Given the description of an element on the screen output the (x, y) to click on. 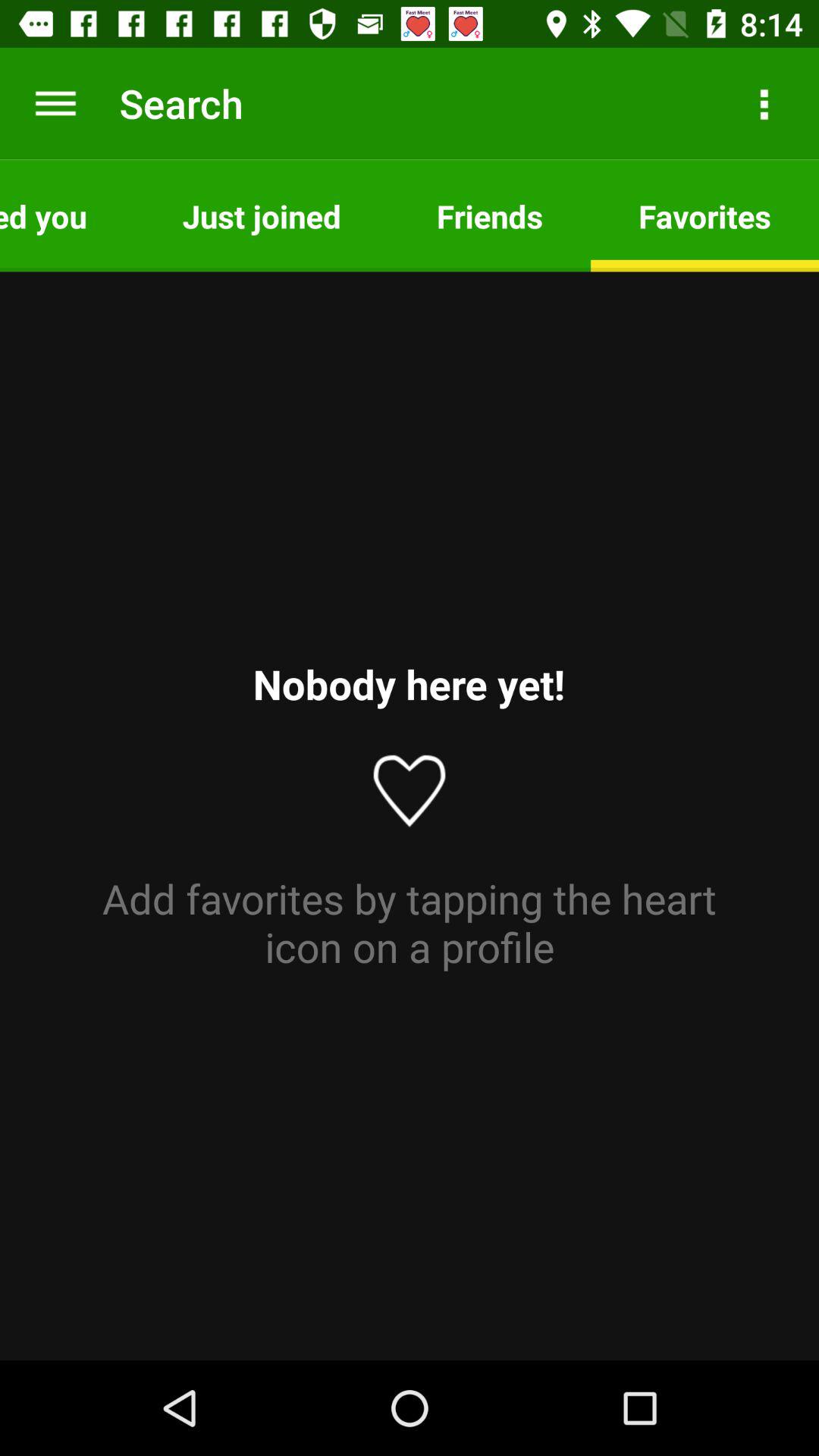
open the liked you (67, 215)
